Given the description of an element on the screen output the (x, y) to click on. 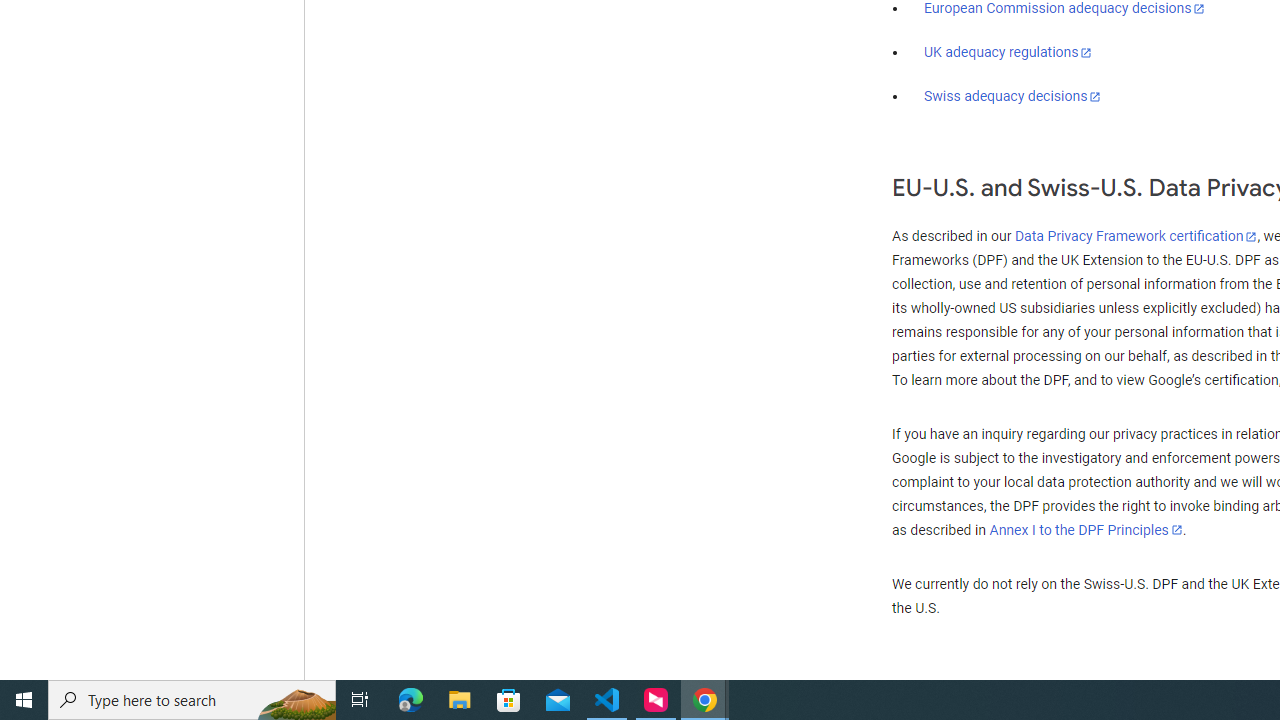
UK adequacy regulations (1008, 52)
European Commission adequacy decisions (1064, 9)
Annex I to the DPF Principles (1085, 530)
Swiss adequacy decisions (1013, 96)
Data Privacy Framework certification (1135, 237)
